Given the description of an element on the screen output the (x, y) to click on. 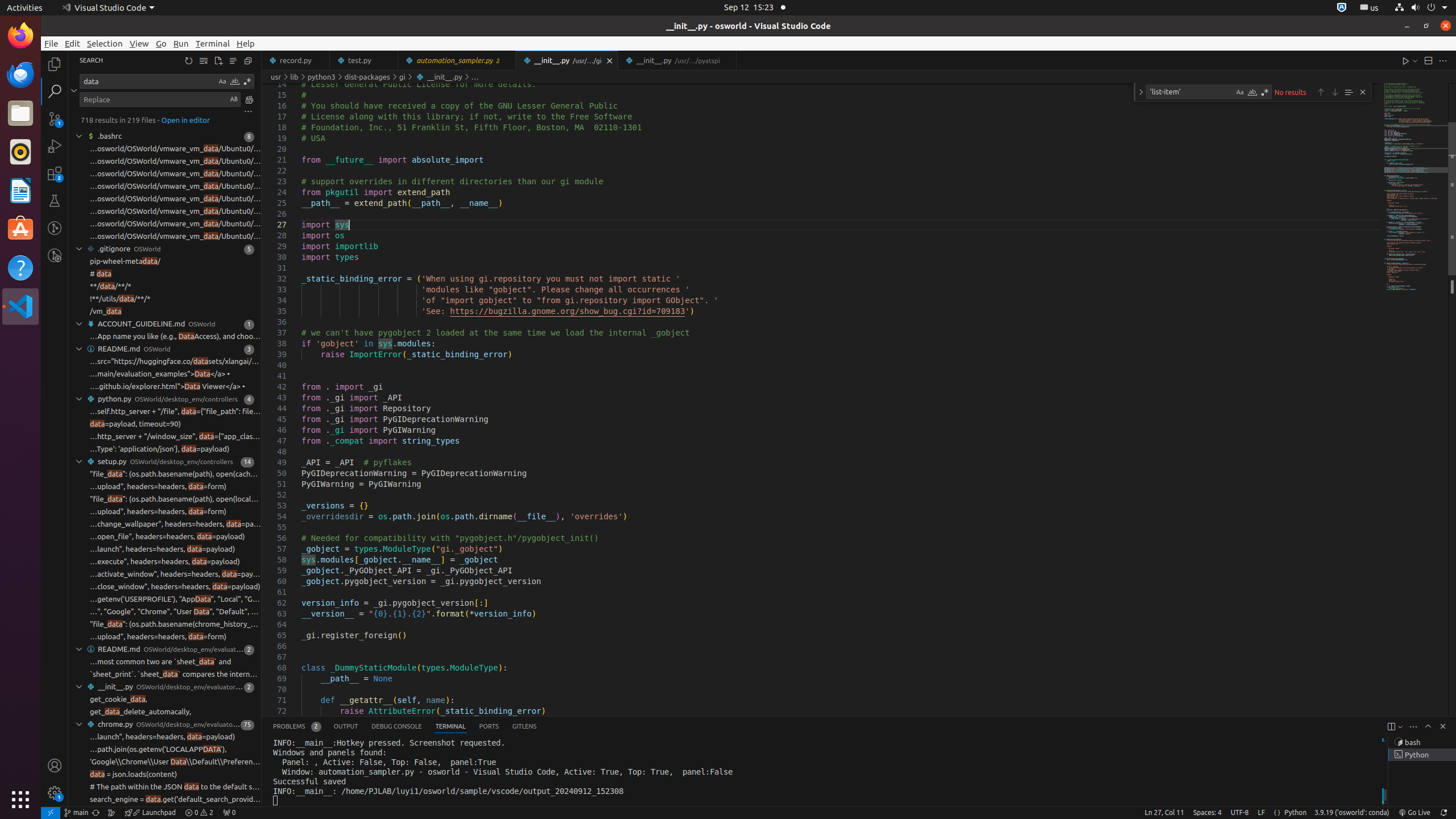
get_data_delete_automacally, Element type: link (140, 711)
__init__.py Element type: page-tab (676, 60)
File Element type: push-button (50, 43)
Open New Search Editor Element type: push-button (218, 60)
